Given the description of an element on the screen output the (x, y) to click on. 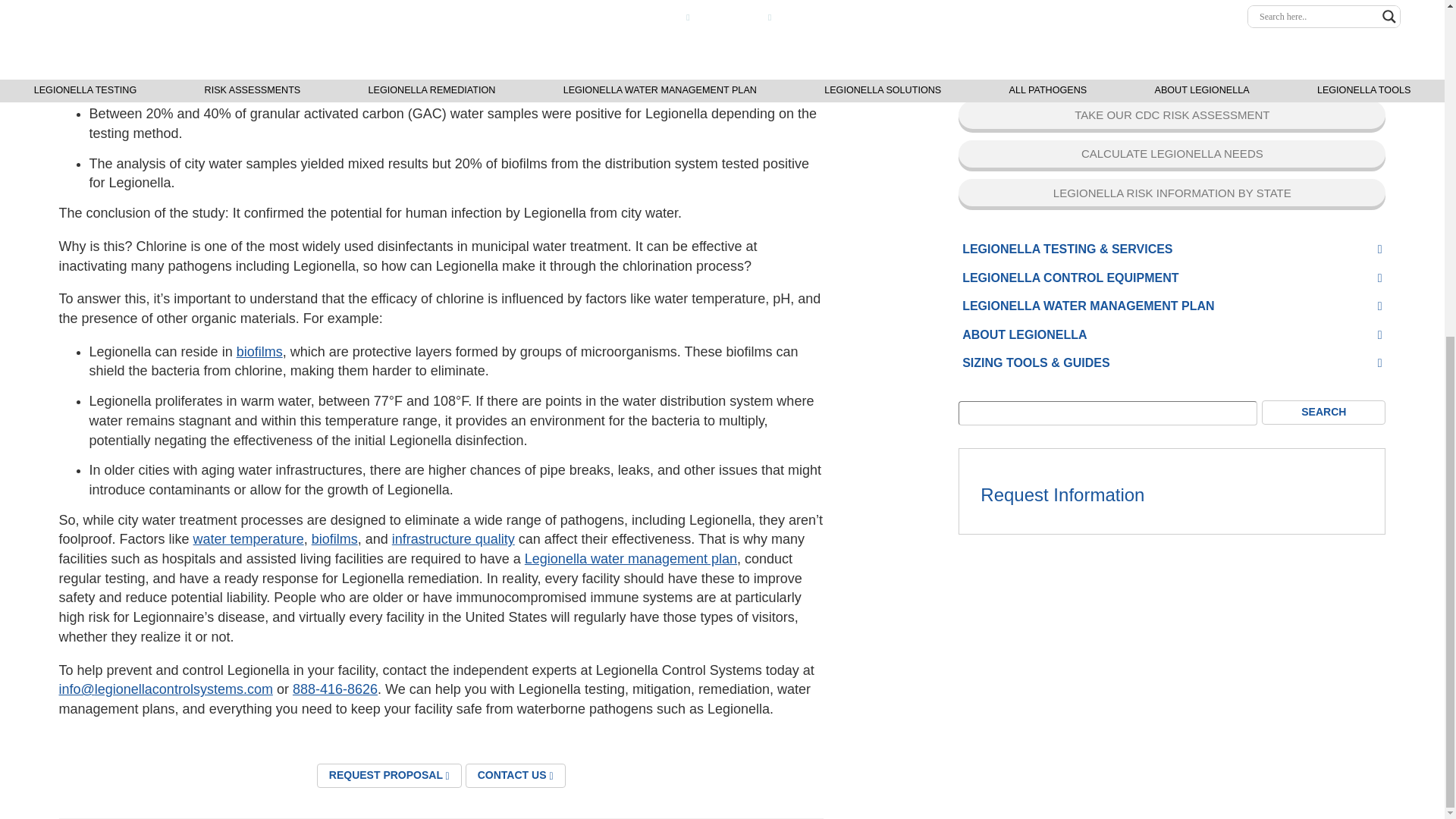
Search (1324, 16)
